Given the description of an element on the screen output the (x, y) to click on. 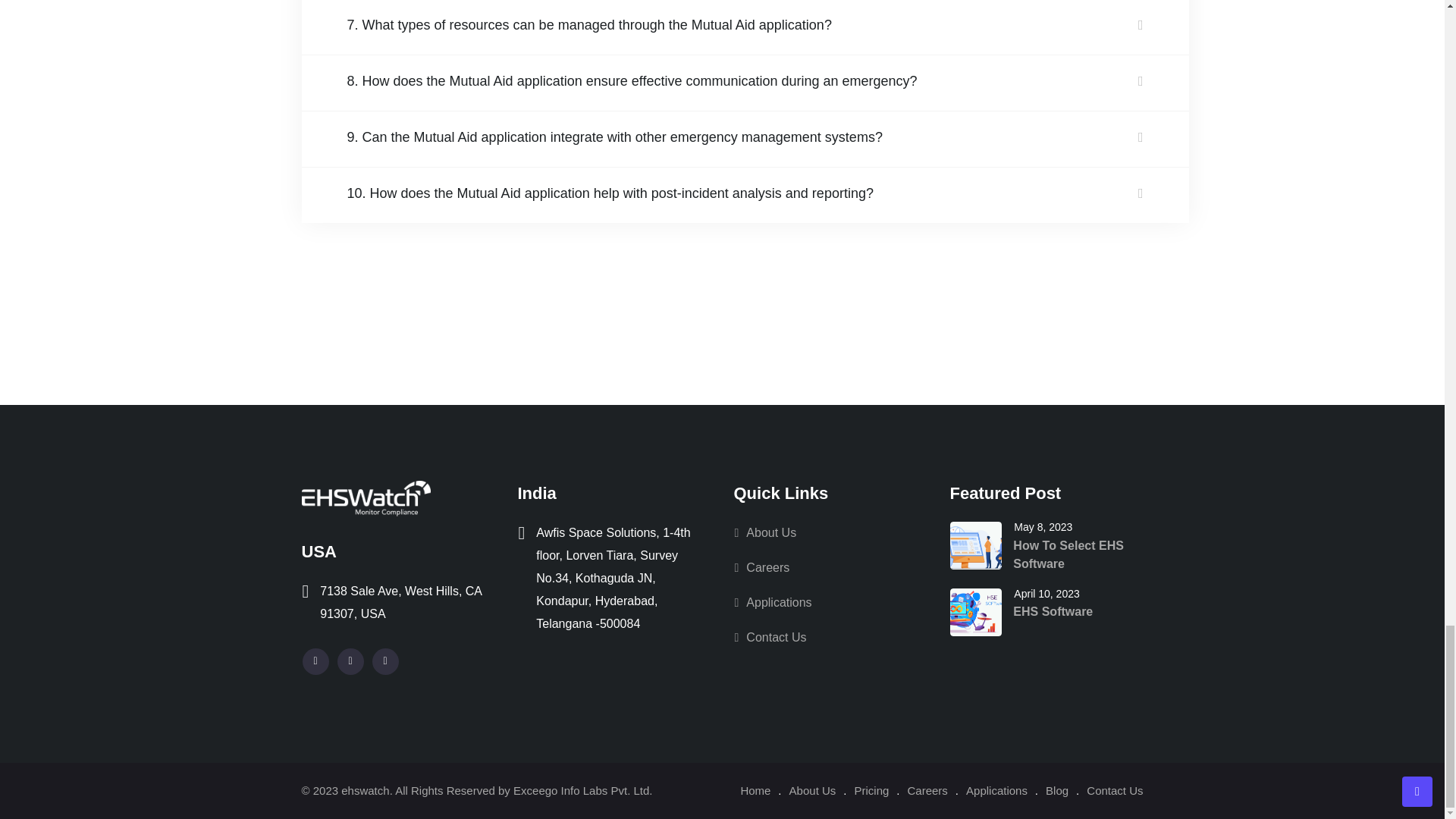
How To Select EHS Software (975, 545)
EHS Software (975, 612)
